Given the description of an element on the screen output the (x, y) to click on. 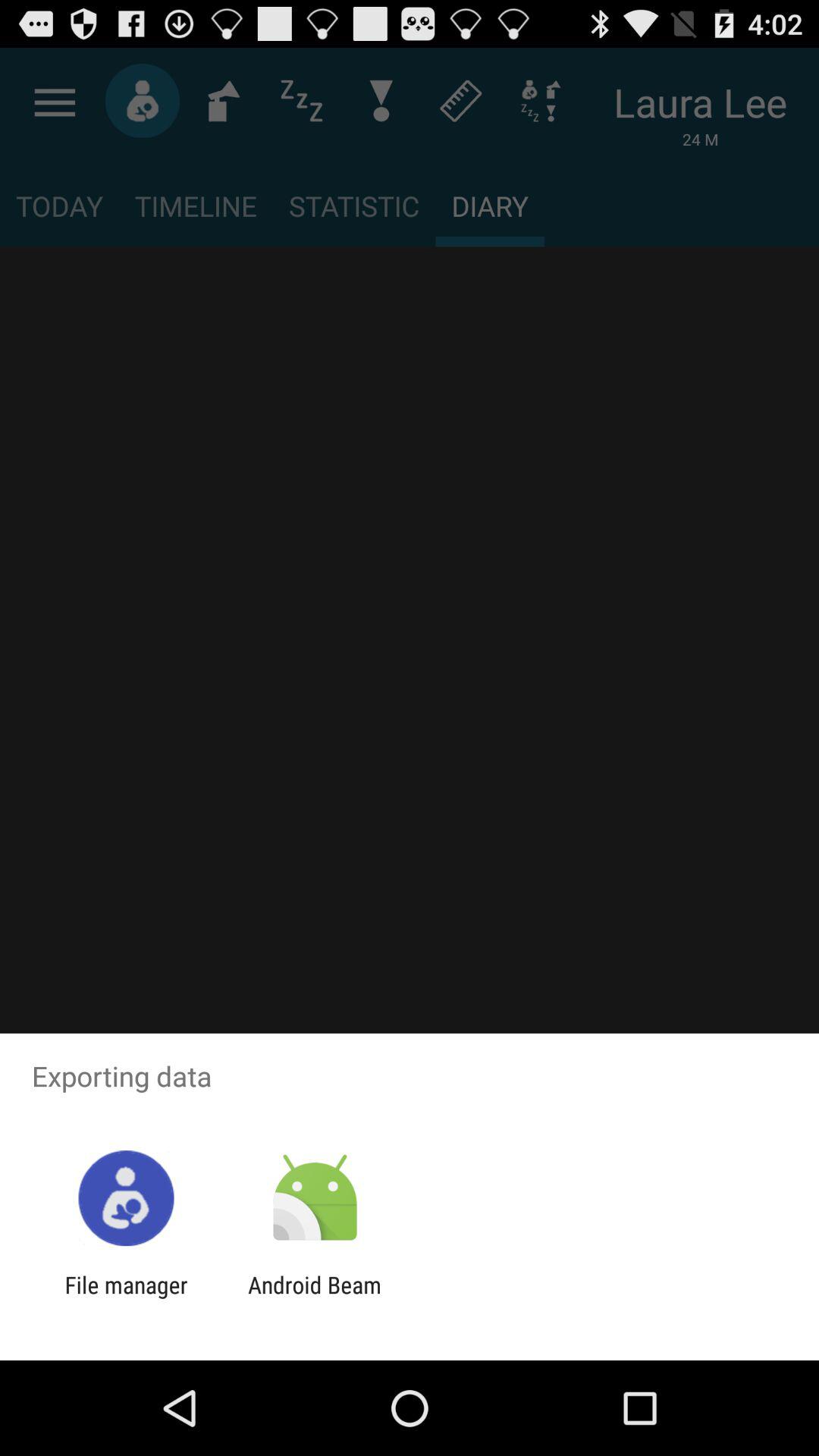
click the item next to file manager (314, 1298)
